Given the description of an element on the screen output the (x, y) to click on. 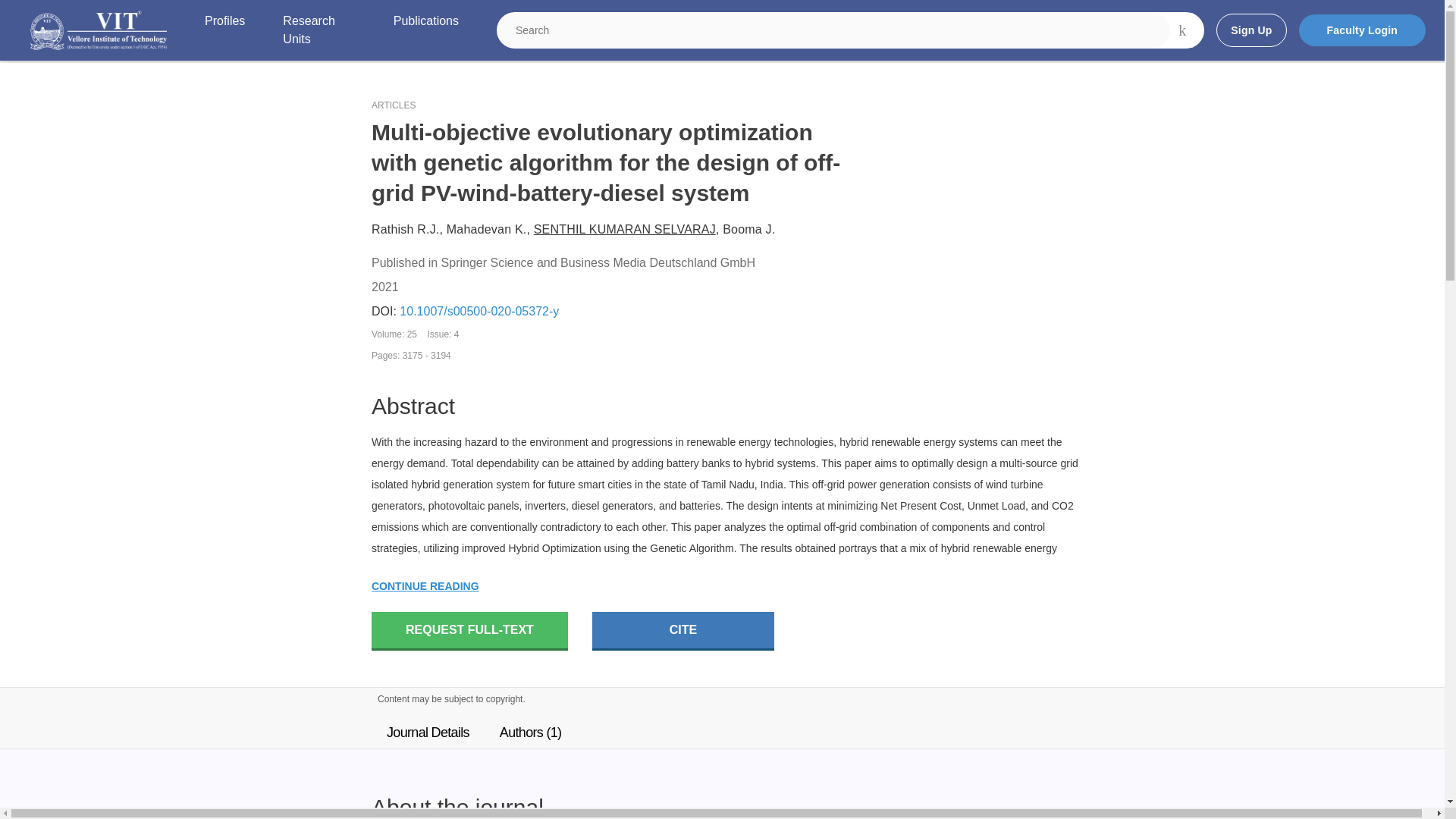
Publications (425, 30)
SENTHIL KUMARAN SELVARAJ (625, 228)
Institution logo (98, 30)
CITE (683, 630)
REQUEST FULL-TEXT (469, 630)
Journal Details (427, 732)
Research Units (318, 30)
Faculty Login (1361, 29)
Sign Up (1250, 29)
Profiles (224, 30)
